Given the description of an element on the screen output the (x, y) to click on. 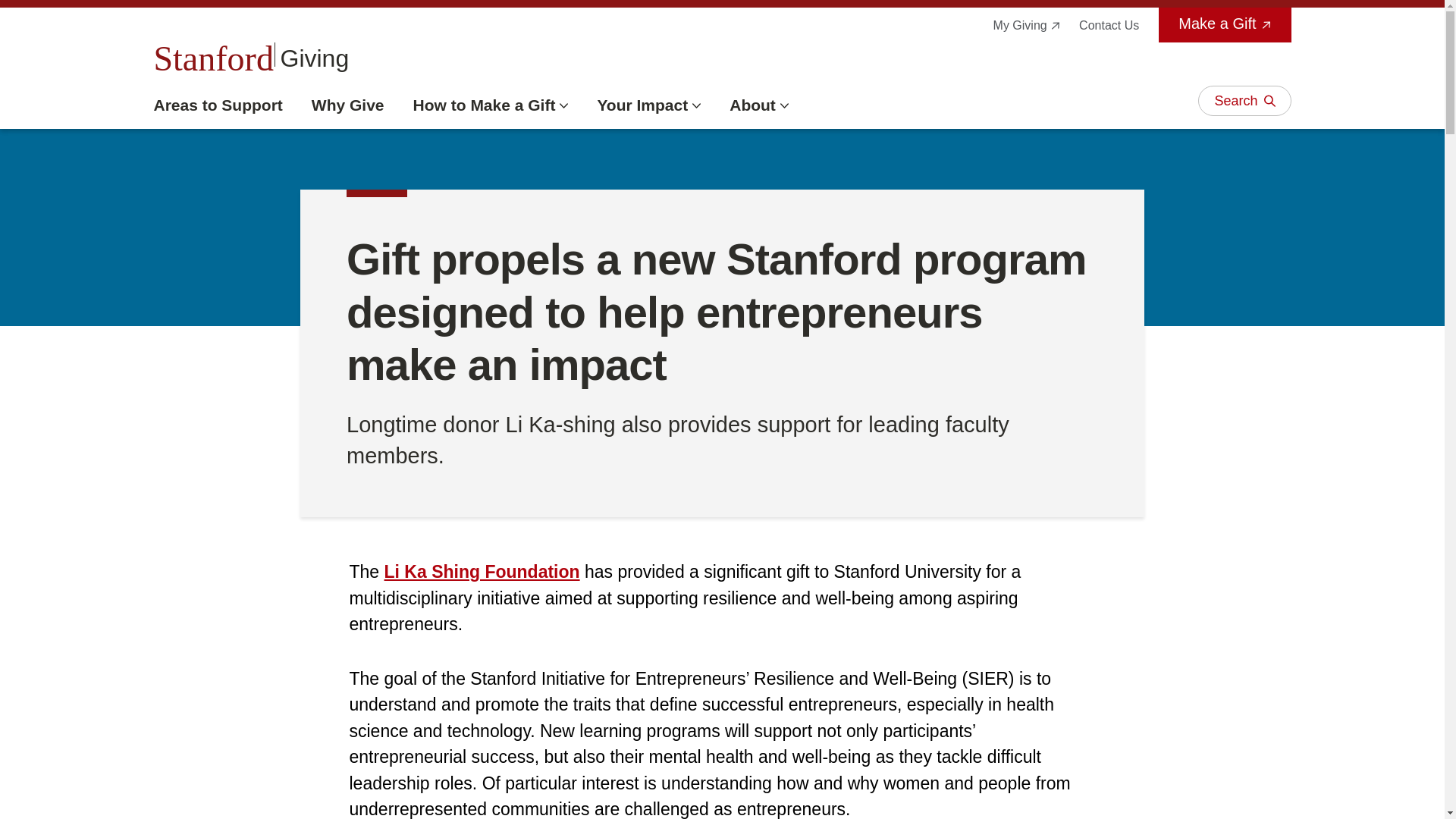
Contact Us (1108, 24)
Your Impact (648, 104)
Areas to Support (217, 104)
Why Give (347, 104)
How to Make a Gift (491, 104)
